Given the description of an element on the screen output the (x, y) to click on. 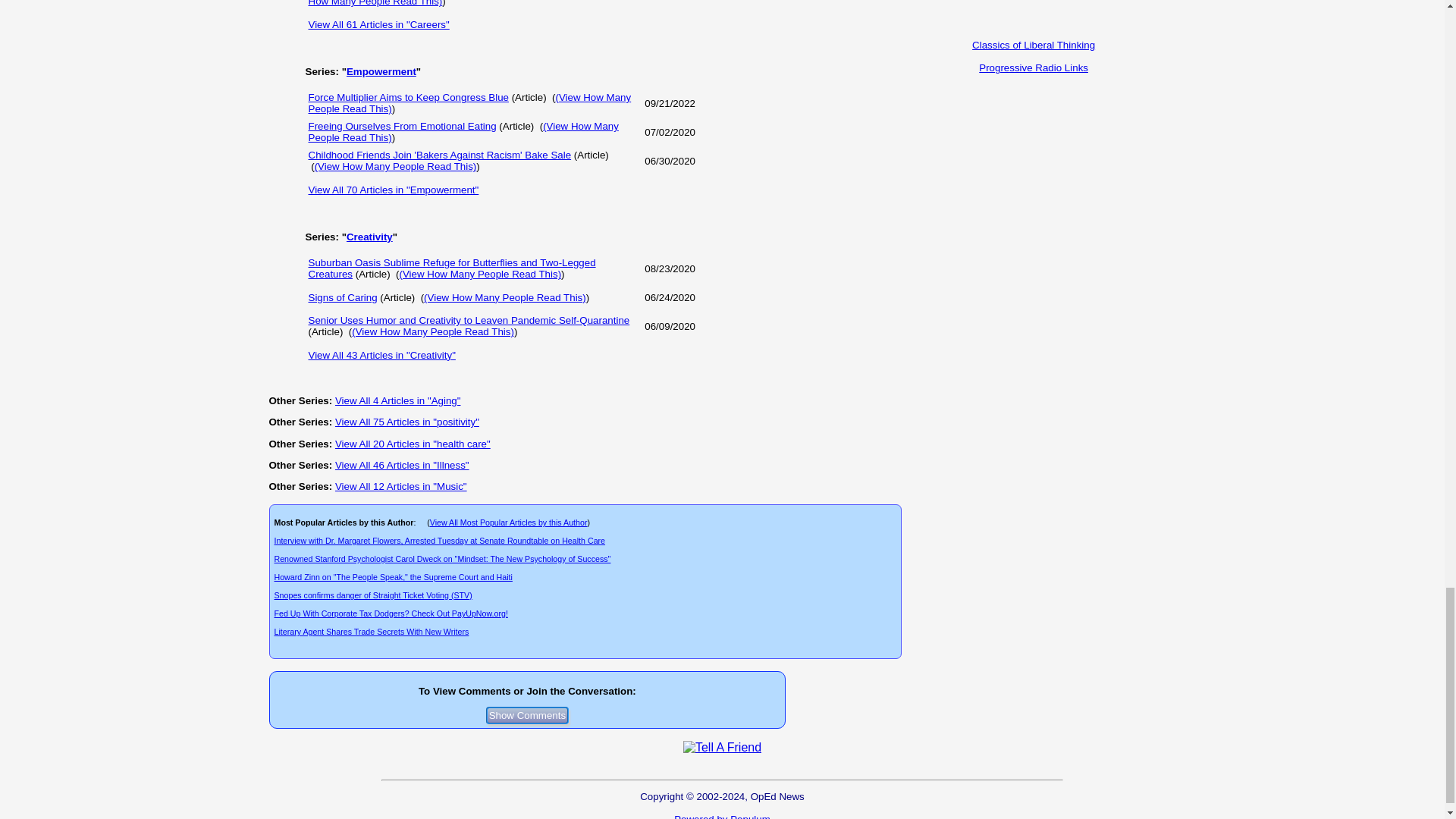
Show Comments (527, 714)
